Given the description of an element on the screen output the (x, y) to click on. 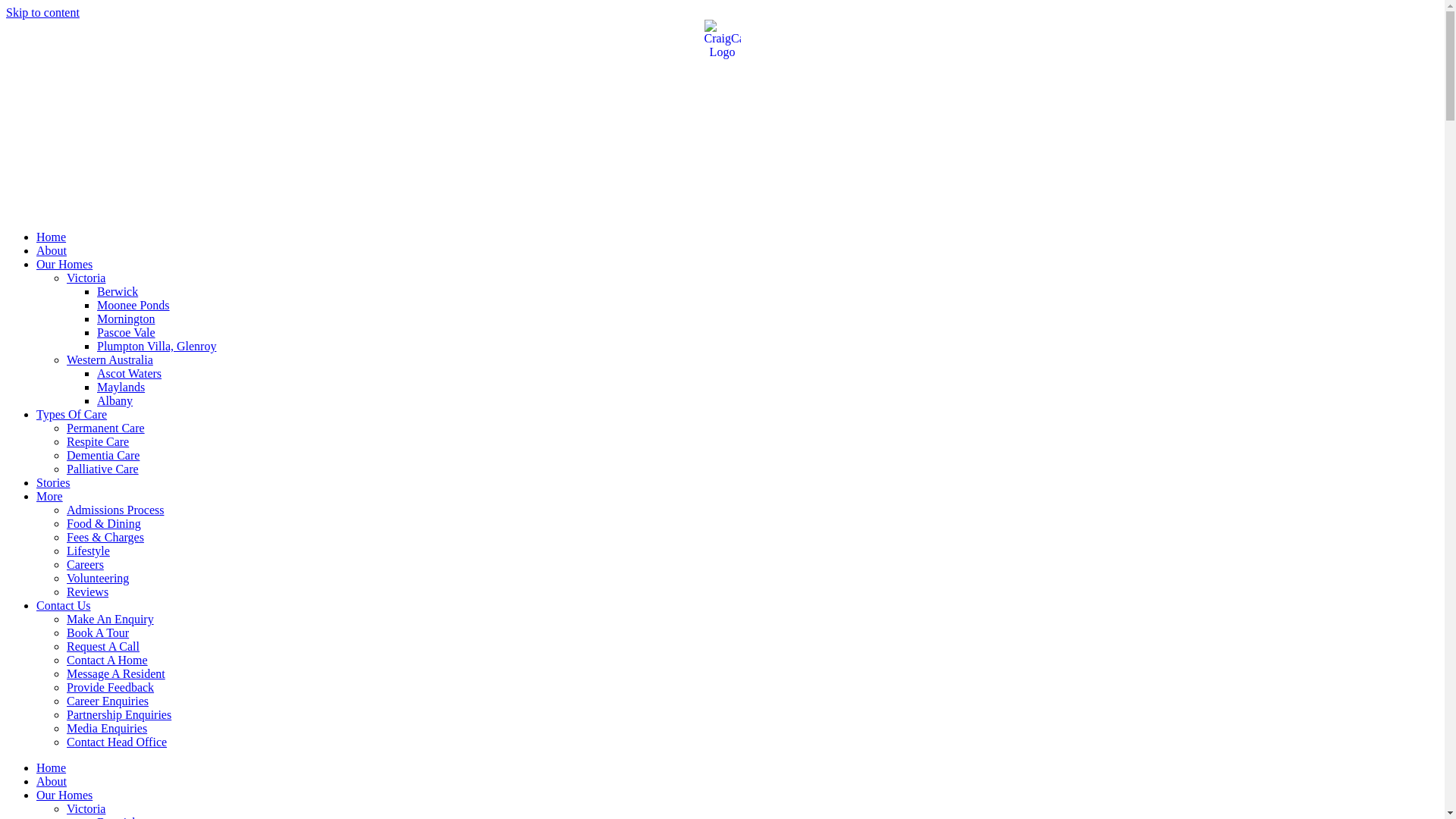
Types Of Care Element type: text (71, 413)
Careers Element type: text (84, 564)
Respite Care Element type: text (97, 441)
About Element type: text (51, 781)
Dementia Care Element type: text (102, 454)
Contact A Home Element type: text (106, 659)
Book A Tour Element type: text (97, 632)
Stories Element type: text (52, 482)
Lifestyle Element type: text (87, 550)
Request A Call Element type: text (102, 646)
Skip to content Element type: text (42, 12)
Home Element type: text (50, 236)
Provide Feedback Element type: text (109, 686)
Make An Enquiry Element type: text (109, 618)
Victoria Element type: text (85, 808)
Palliative Care Element type: text (102, 468)
Western Australia Element type: text (109, 359)
Plumpton Villa, Glenroy Element type: text (156, 345)
Career Enquiries Element type: text (107, 700)
Moonee Ponds Element type: text (133, 304)
Our Homes Element type: text (64, 794)
Ascot Waters Element type: text (129, 373)
Fees & Charges Element type: text (105, 536)
Partnership Enquiries Element type: text (118, 714)
Home Element type: text (50, 767)
Pascoe Vale Element type: text (126, 332)
Maylands Element type: text (120, 386)
Berwick Element type: text (117, 291)
Permanent Care Element type: text (105, 427)
Food & Dining Element type: text (103, 523)
Volunteering Element type: text (97, 577)
Victoria Element type: text (85, 277)
Contact Us Element type: text (63, 605)
Message A Resident Element type: text (115, 673)
Media Enquiries Element type: text (106, 727)
Contact Head Office Element type: text (116, 741)
More Element type: text (49, 495)
Admissions Process Element type: text (114, 509)
Mornington Element type: text (125, 318)
About Element type: text (51, 250)
Albany Element type: text (114, 400)
Our Homes Element type: text (64, 263)
Reviews Element type: text (87, 591)
